Given the description of an element on the screen output the (x, y) to click on. 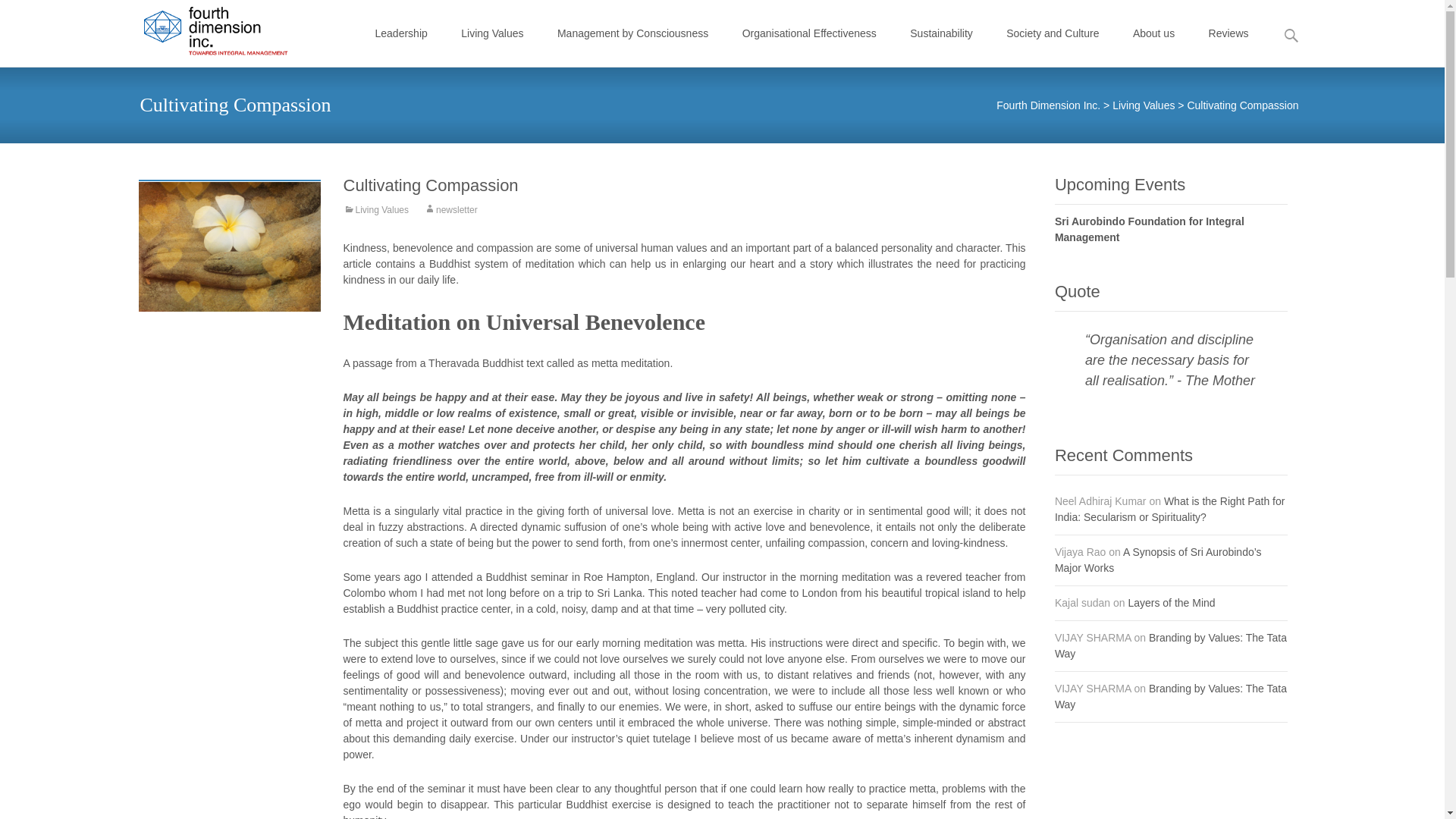
newsletter (450, 211)
Layers of the Mind (1170, 603)
Fourth Dimension Inc. (203, 30)
About us (1153, 33)
Go to the Living Values category archives. (1143, 105)
Living Values (1143, 105)
Living Values (491, 33)
Organisational Effectiveness (809, 33)
Branding by Values: The Tata Way (1170, 645)
Society and Culture (1052, 33)
Leadership (401, 33)
Living Values (375, 212)
Fourth Dimension Inc. (1047, 105)
Sustainability (941, 33)
